Given the description of an element on the screen output the (x, y) to click on. 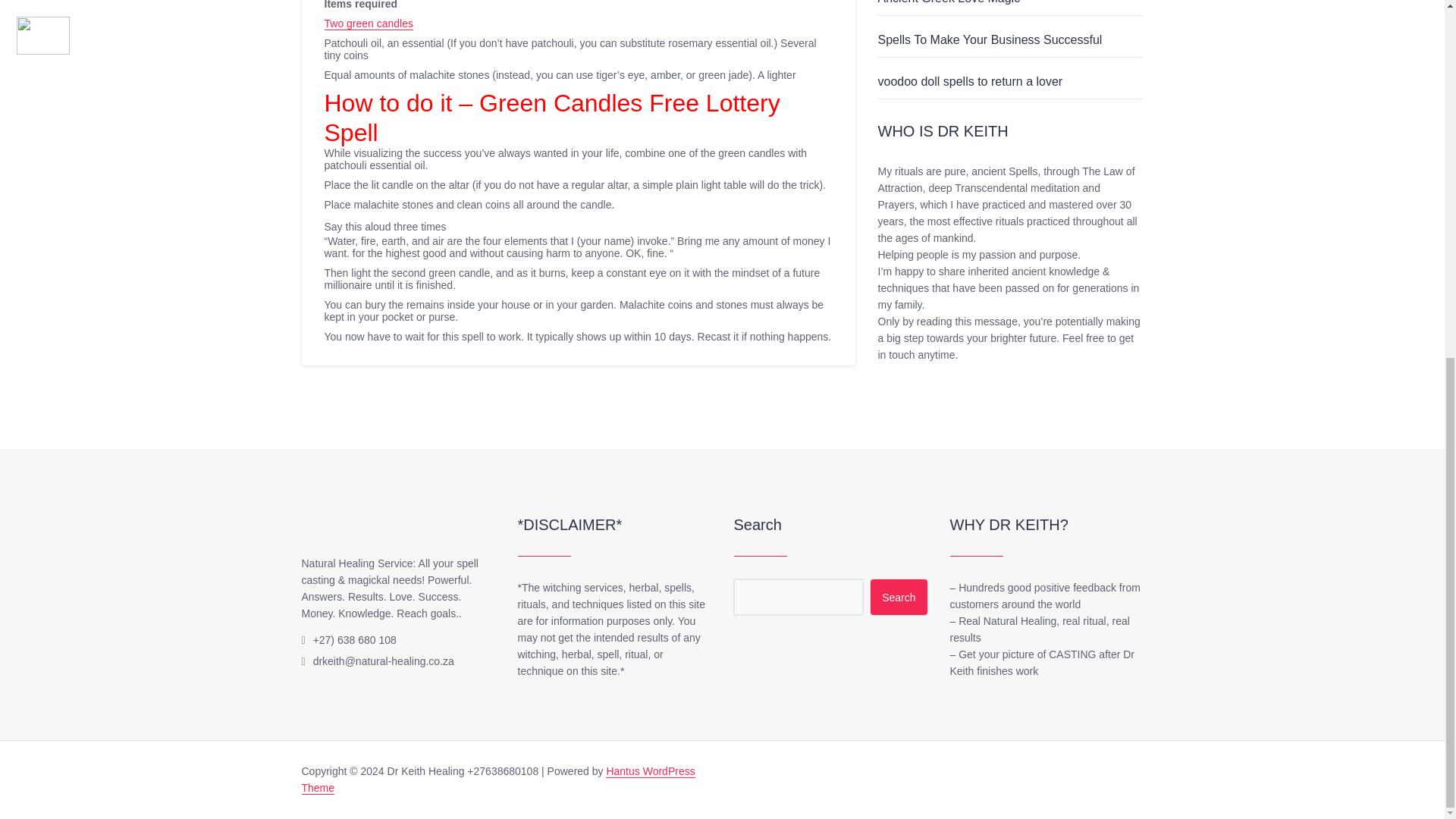
Two green candles (368, 23)
Hantus WordPress Theme (498, 779)
Search (898, 597)
Search (898, 597)
voodoo doll spells to return a lover (969, 81)
Ancient Greek Love Magic (948, 2)
Search (898, 597)
Spells To Make Your Business Successful (989, 39)
